Given the description of an element on the screen output the (x, y) to click on. 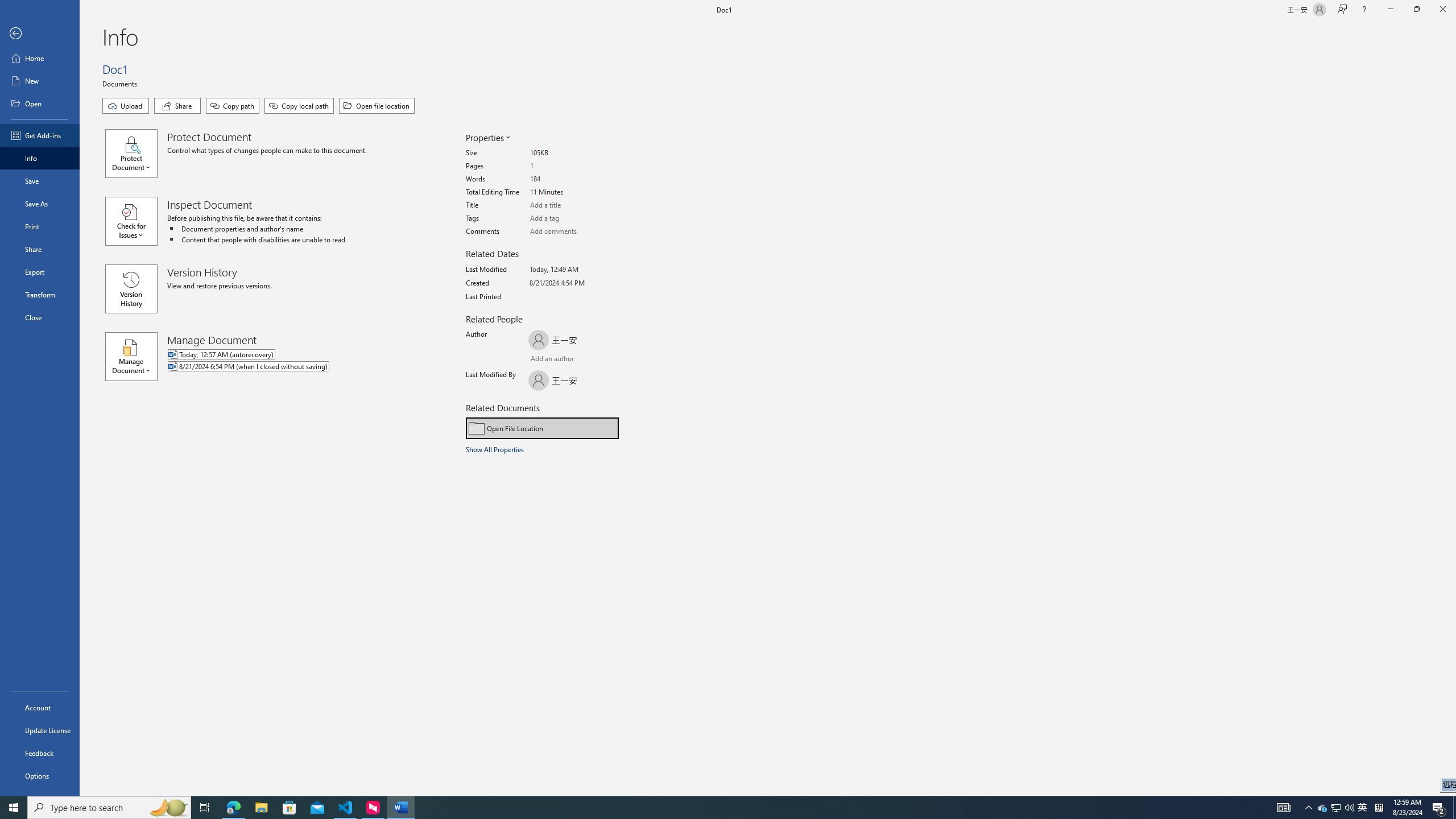
Check for Issues (135, 220)
Verify Names (559, 359)
Properties (486, 137)
Title (572, 205)
Export (40, 271)
Options (40, 775)
Open File Location (541, 427)
Upload (124, 105)
Browse Address Book (595, 359)
